Given the description of an element on the screen output the (x, y) to click on. 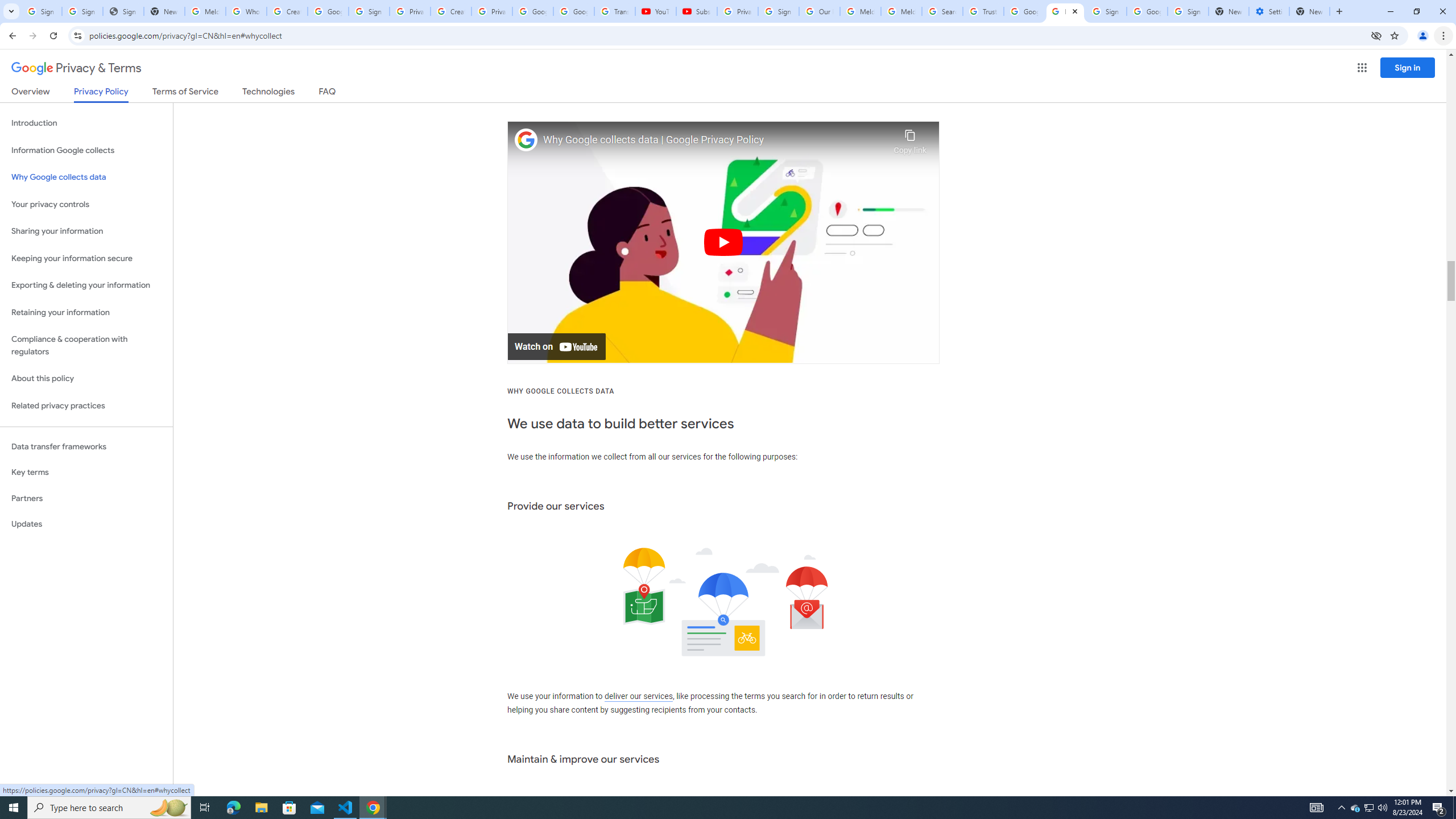
Google Ads - Sign in (1023, 11)
Sharing your information (86, 230)
